Given the description of an element on the screen output the (x, y) to click on. 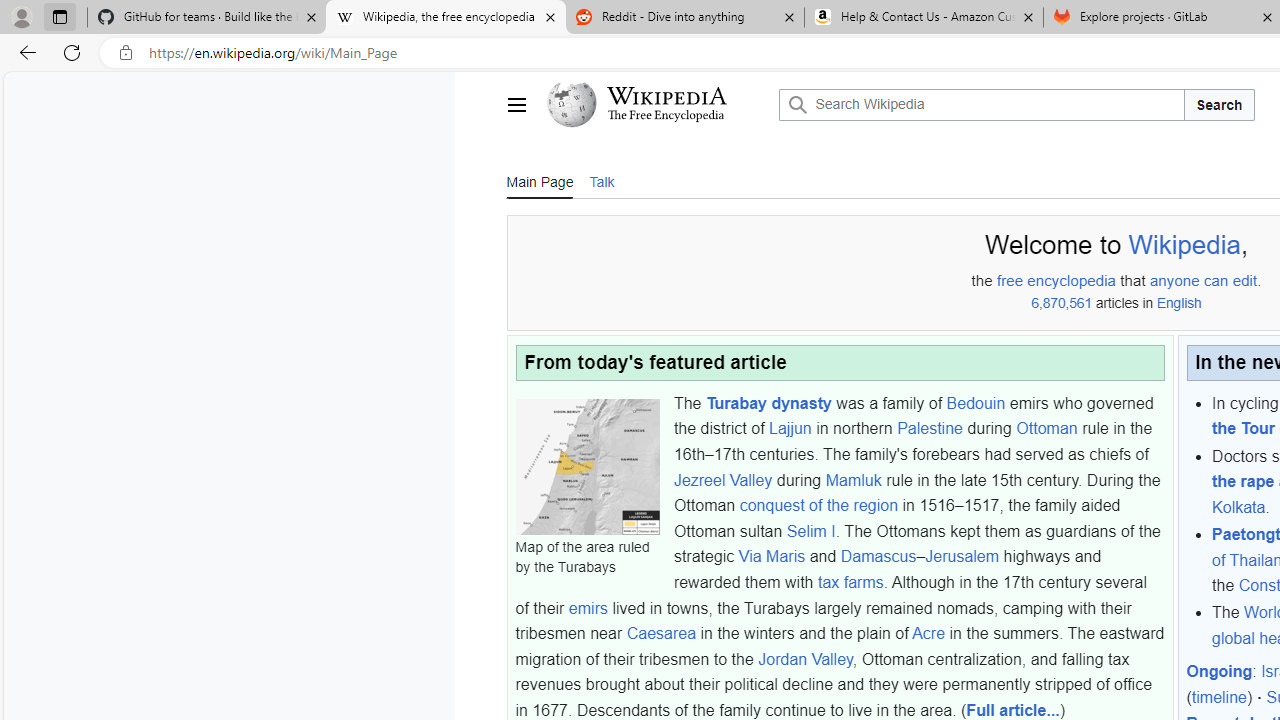
Damascus (877, 556)
timeline (1218, 698)
tax farms (850, 582)
conquest of the region (818, 505)
